Given the description of an element on the screen output the (x, y) to click on. 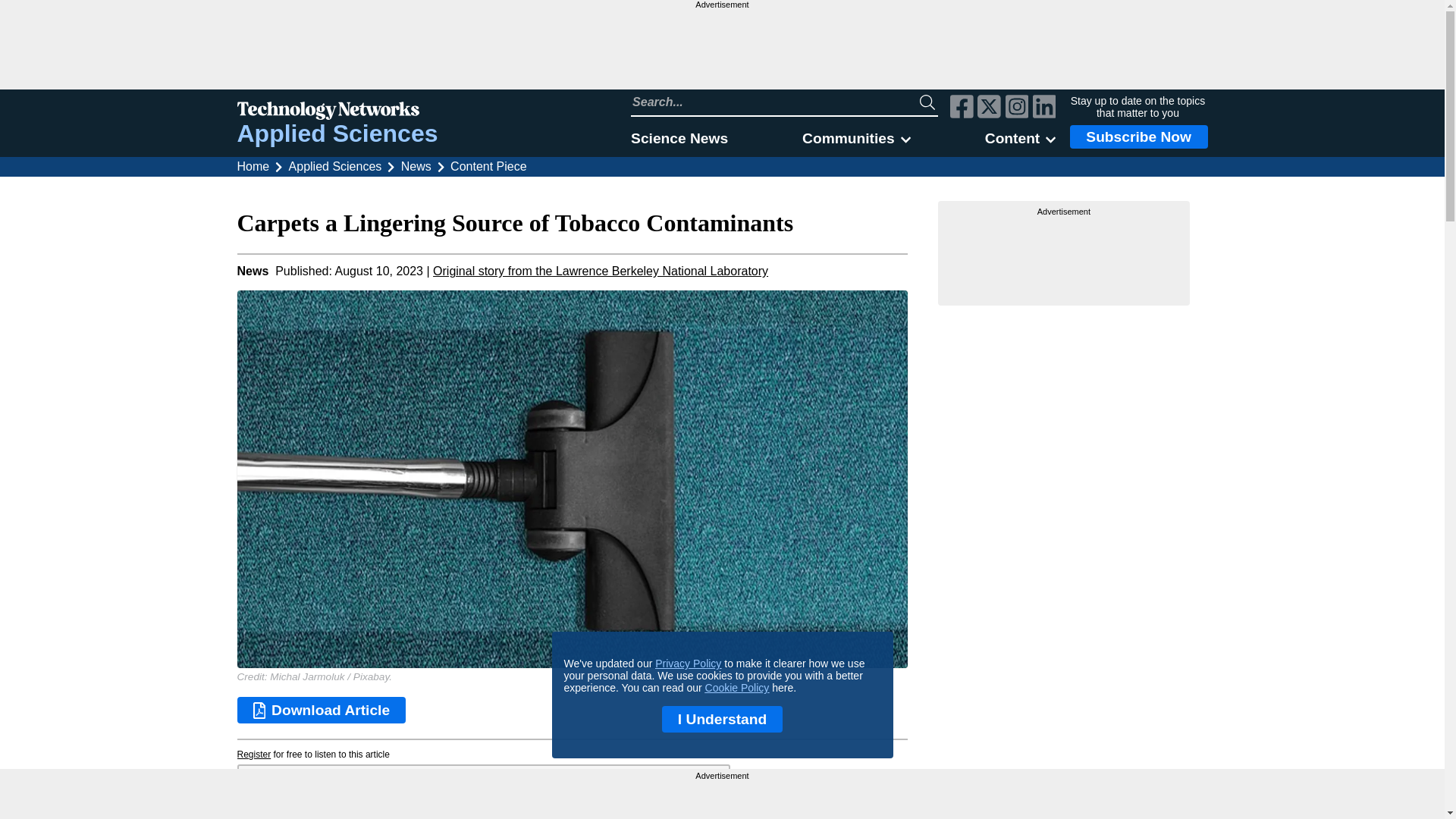
Search Technology Networks website input field (775, 102)
Privacy Policy (687, 663)
Cookie Policy (737, 687)
I Understand (722, 718)
Technology Networks logo (336, 112)
Click here to visit the original source for this content. (600, 270)
